Given the description of an element on the screen output the (x, y) to click on. 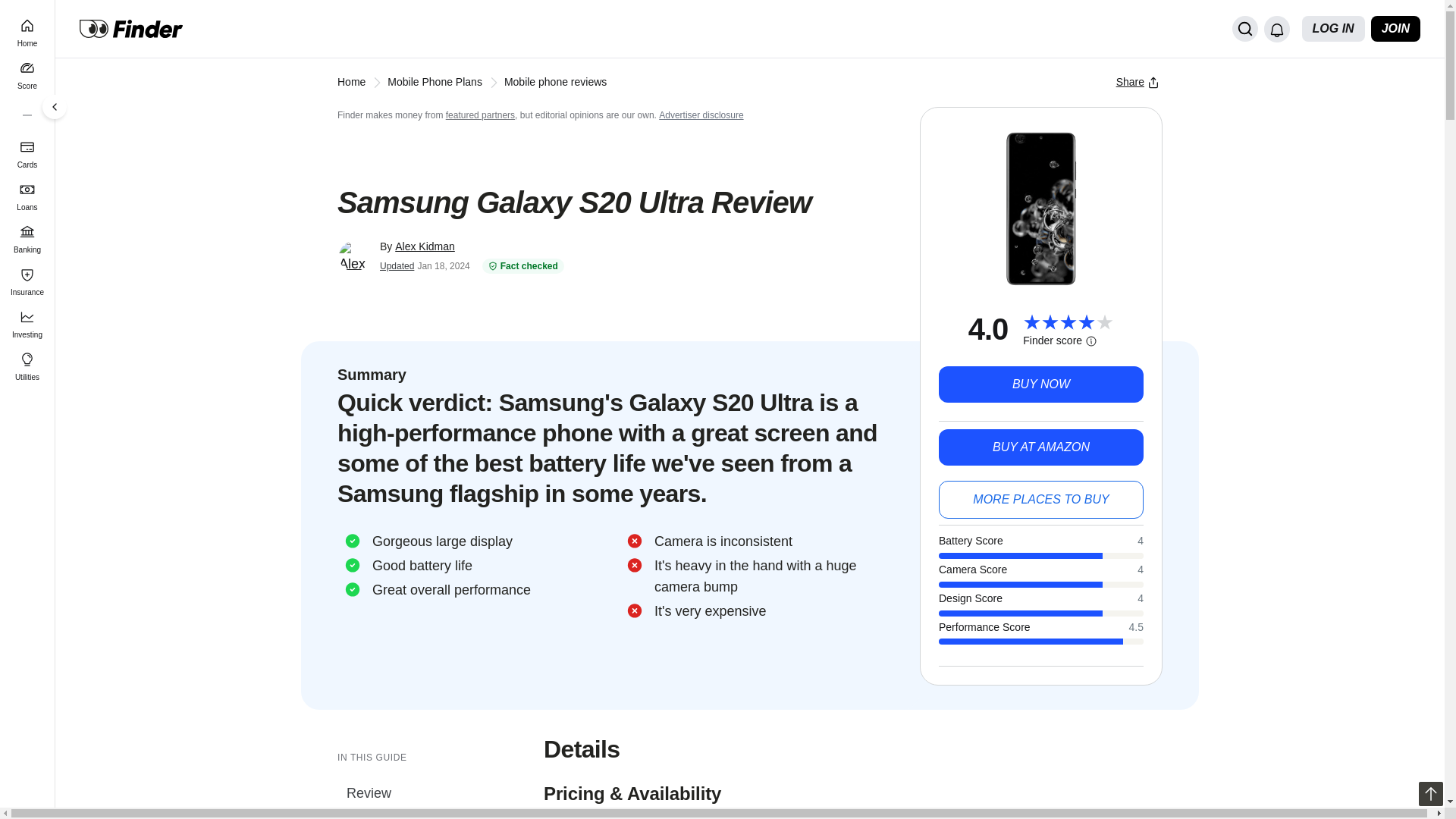
Important information about this website (700, 114)
